Given the description of an element on the screen output the (x, y) to click on. 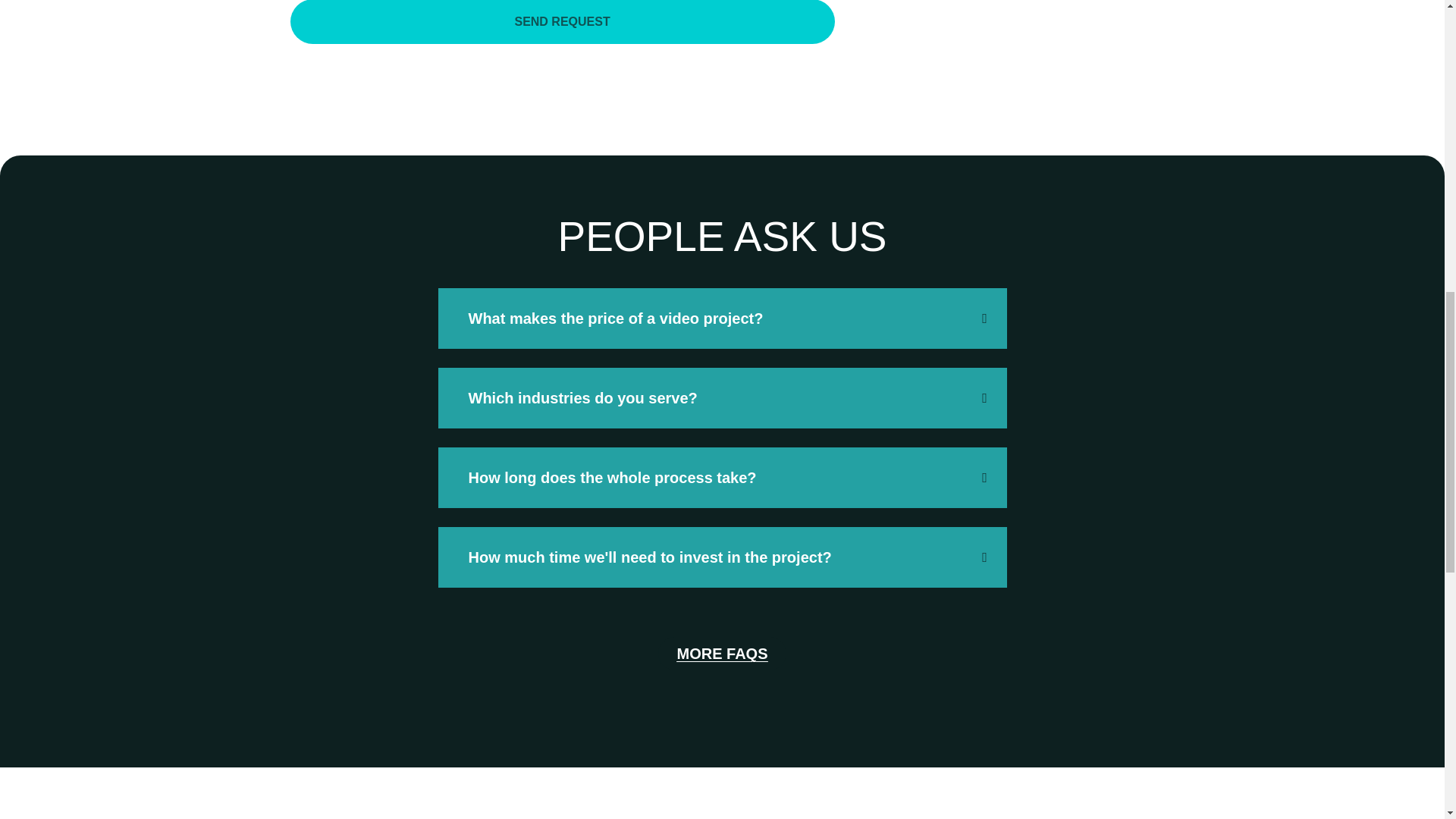
MORE FAQS (722, 653)
SEND REQUEST (561, 33)
